Given the description of an element on the screen output the (x, y) to click on. 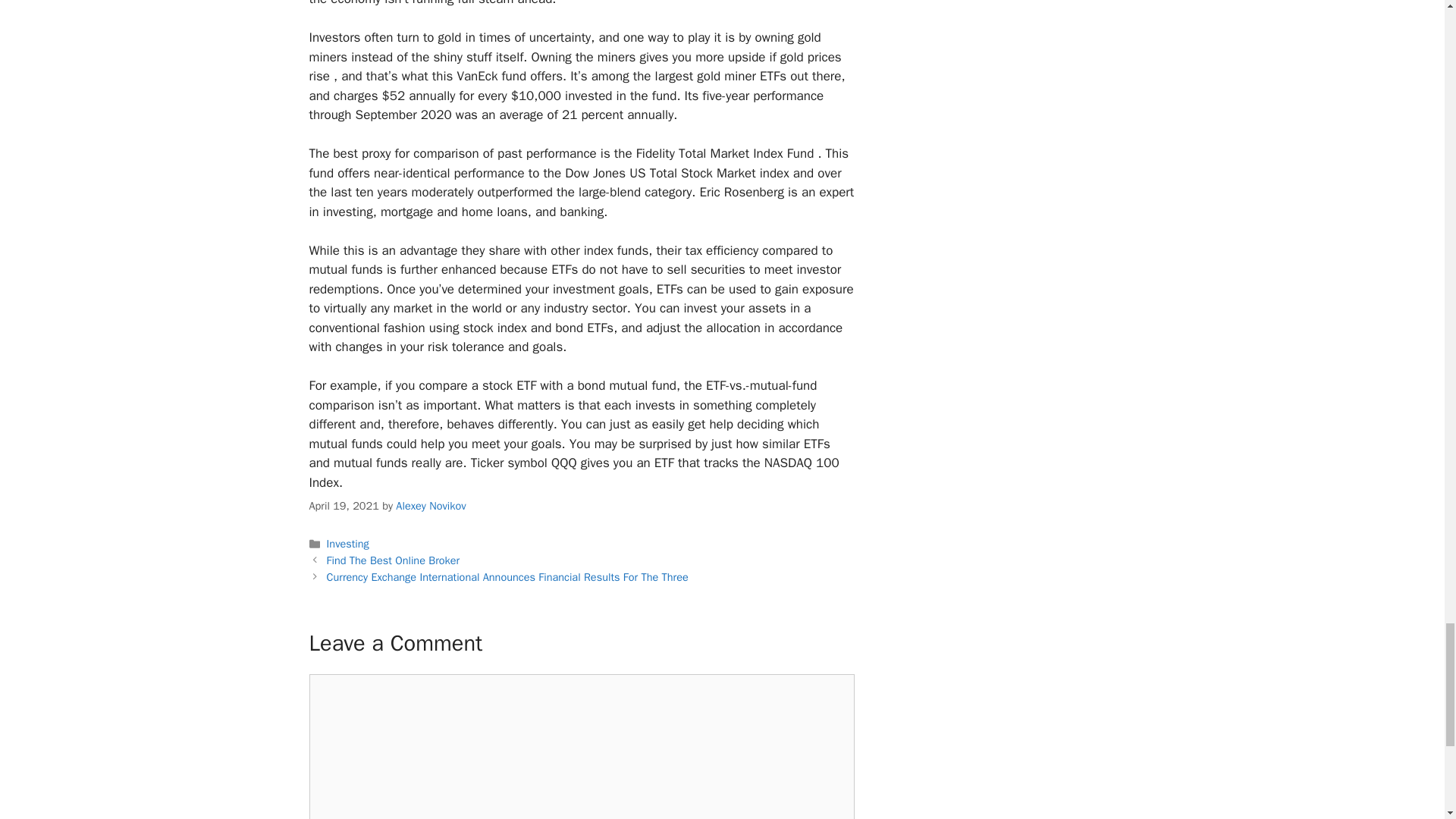
Next (507, 576)
Find The Best Online Broker (393, 560)
View all posts by Alexey Novikov (430, 505)
Previous (393, 560)
Investing (347, 543)
Alexey Novikov (430, 505)
